Given the description of an element on the screen output the (x, y) to click on. 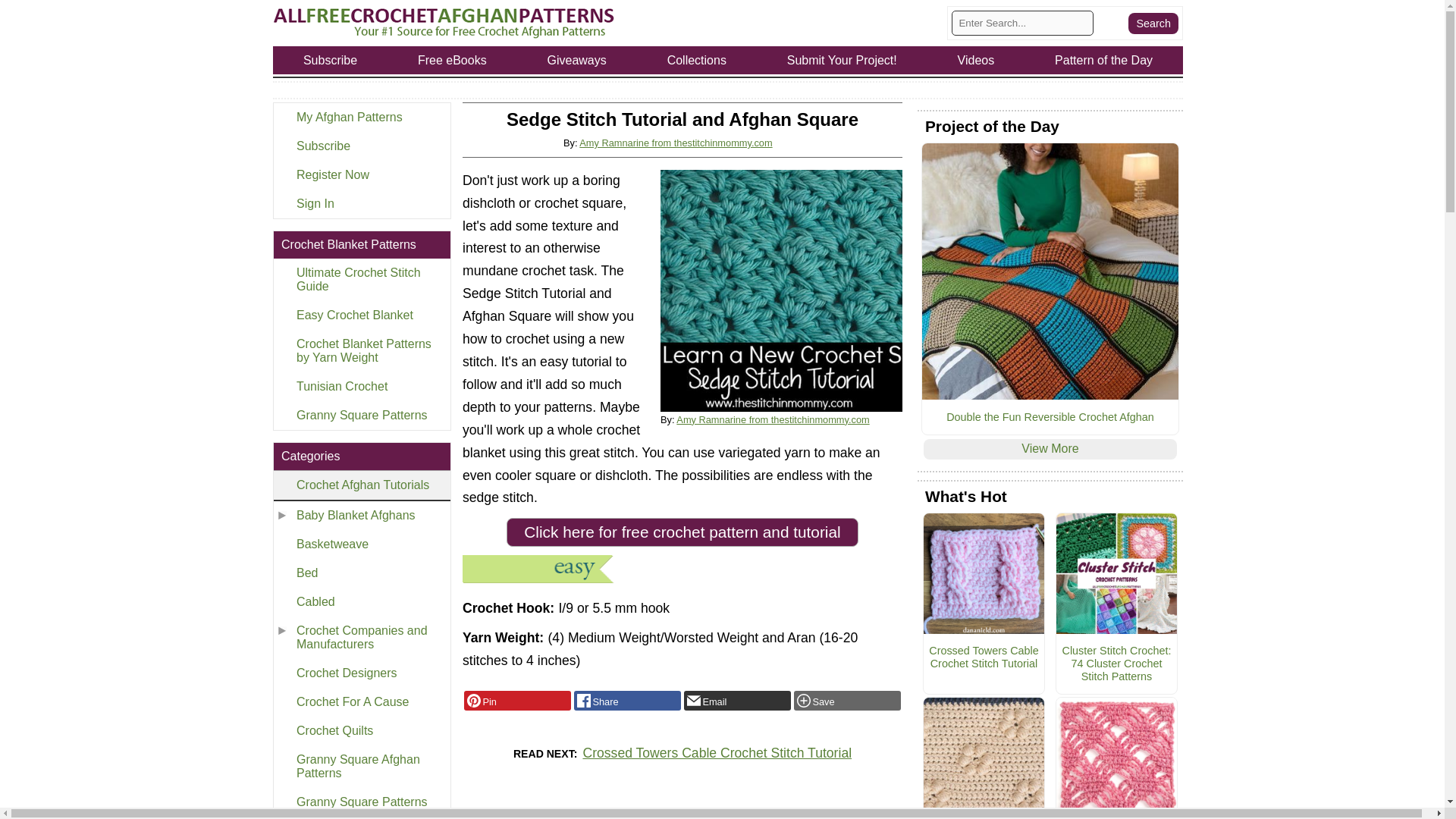
Search (1152, 22)
Email (737, 700)
Sign In (361, 203)
Subscribe (361, 145)
Add (847, 700)
My Afghan Patterns (361, 117)
Register Now (361, 174)
Facebook (627, 700)
